Given the description of an element on the screen output the (x, y) to click on. 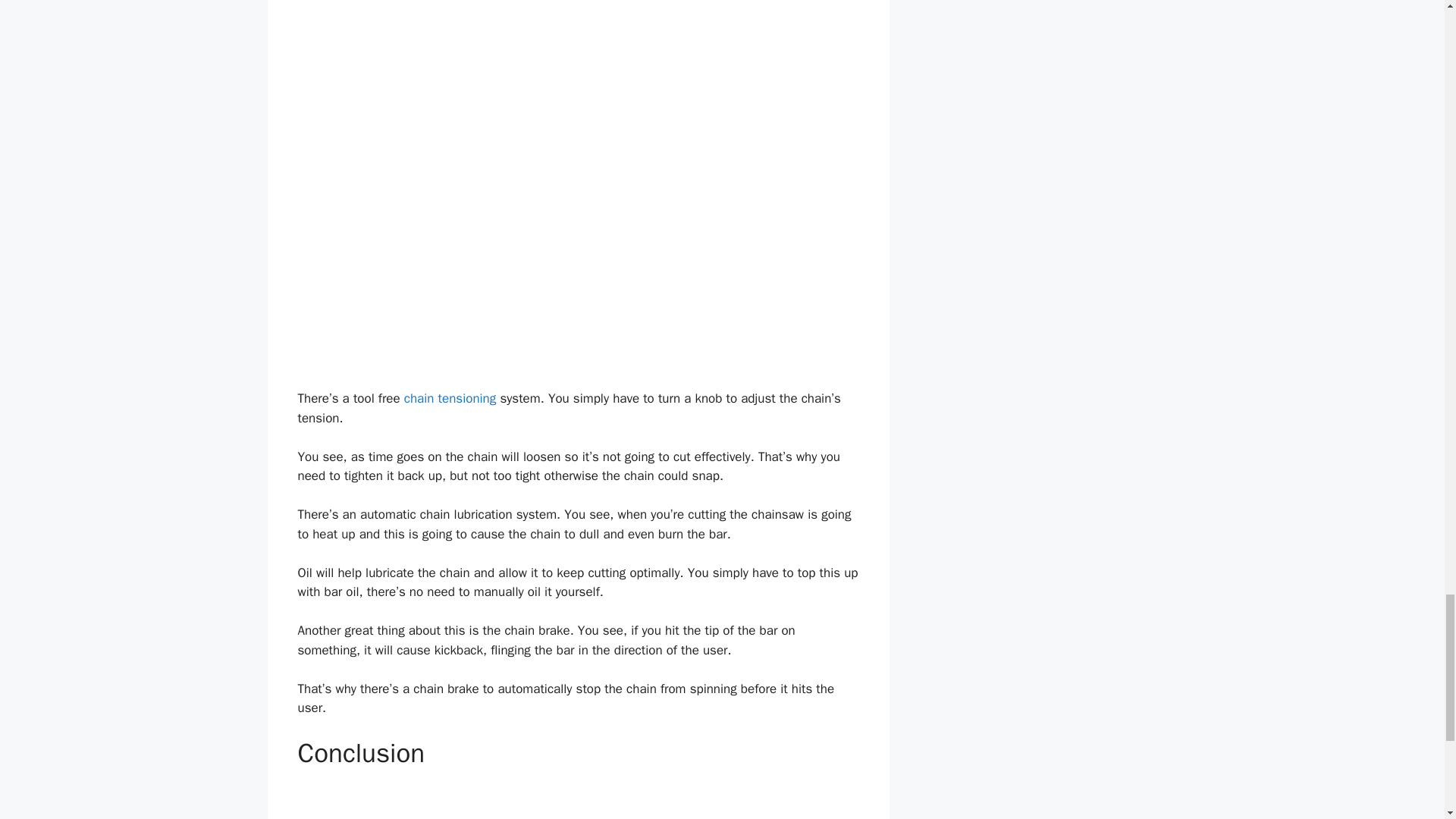
chain tensioning (450, 398)
